Given the description of an element on the screen output the (x, y) to click on. 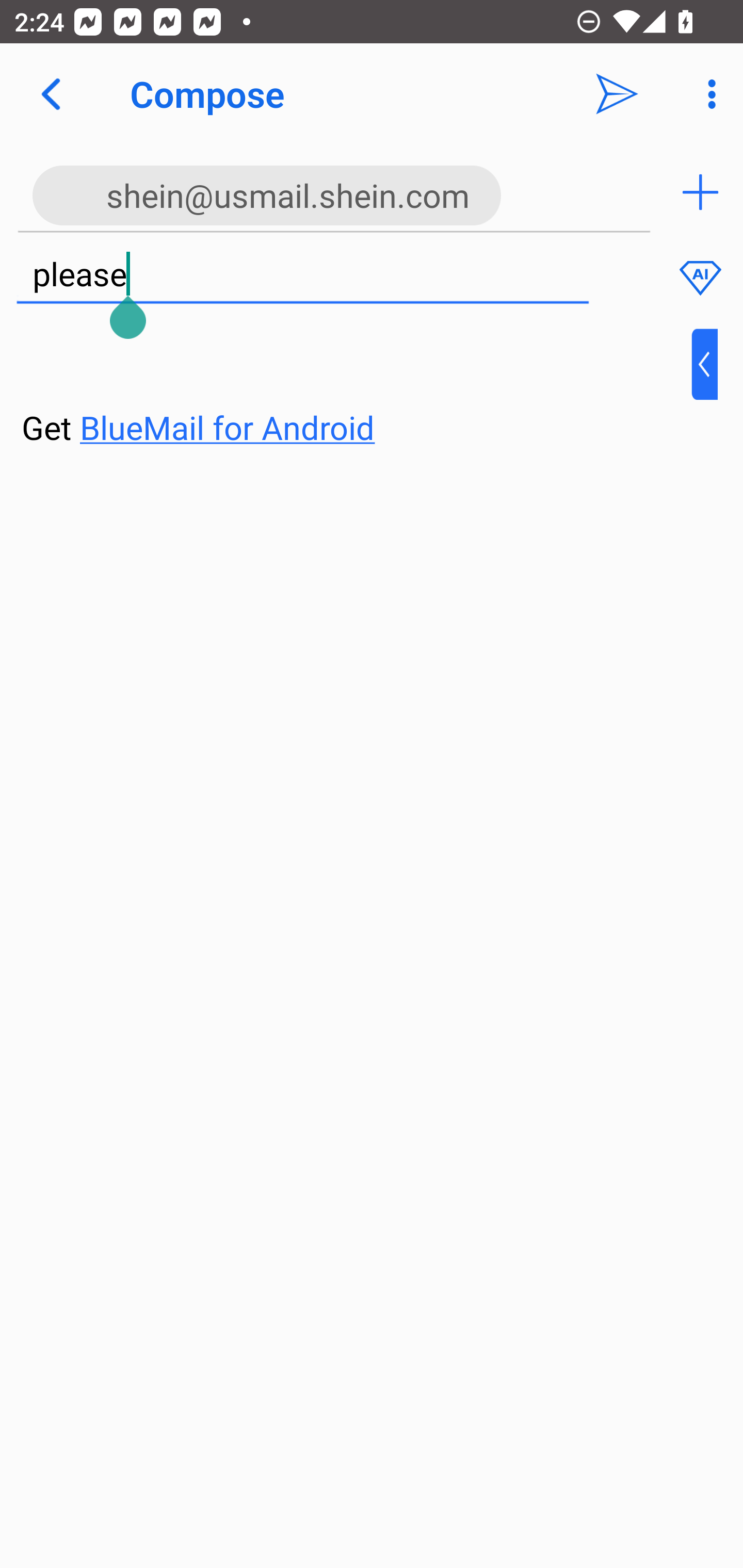
Navigate up (50, 93)
Send (616, 93)
More Options (706, 93)
<shein@usmail.shein.com>,  (334, 191)
Add recipient (To) (699, 191)
please (302, 274)


⁣Get BlueMail for Android ​ (355, 390)
